Given the description of an element on the screen output the (x, y) to click on. 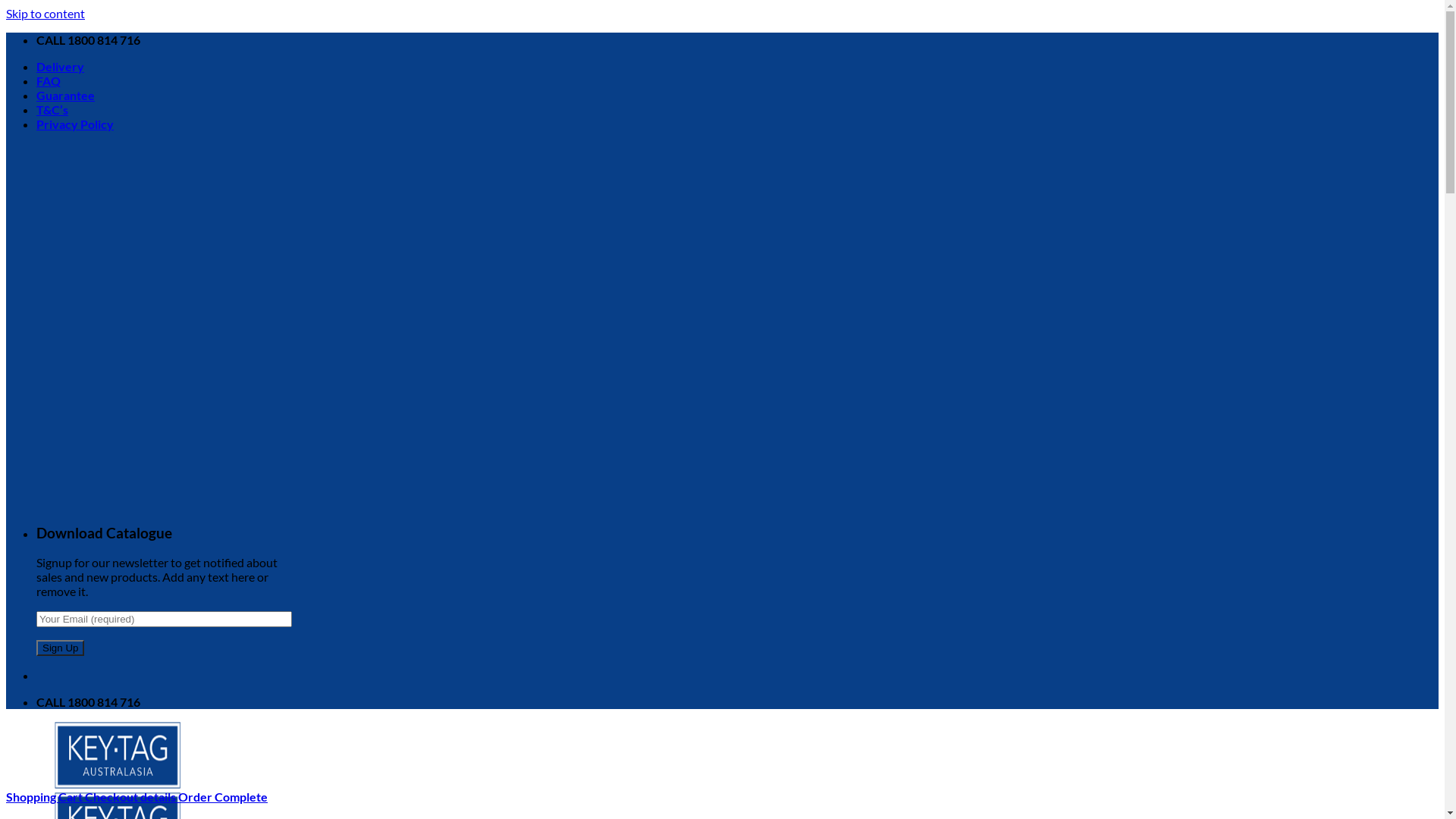
Delivery Element type: text (60, 66)
Sign Up Element type: text (60, 647)
Order Complete Element type: text (222, 796)
Skip to content Element type: text (45, 13)
Guarantee Element type: text (65, 94)
FAQ Element type: text (48, 80)
Privacy Policy Element type: text (74, 123)
Shopping Cart Element type: text (45, 796)
Checkout details Element type: text (131, 796)
